Given the description of an element on the screen output the (x, y) to click on. 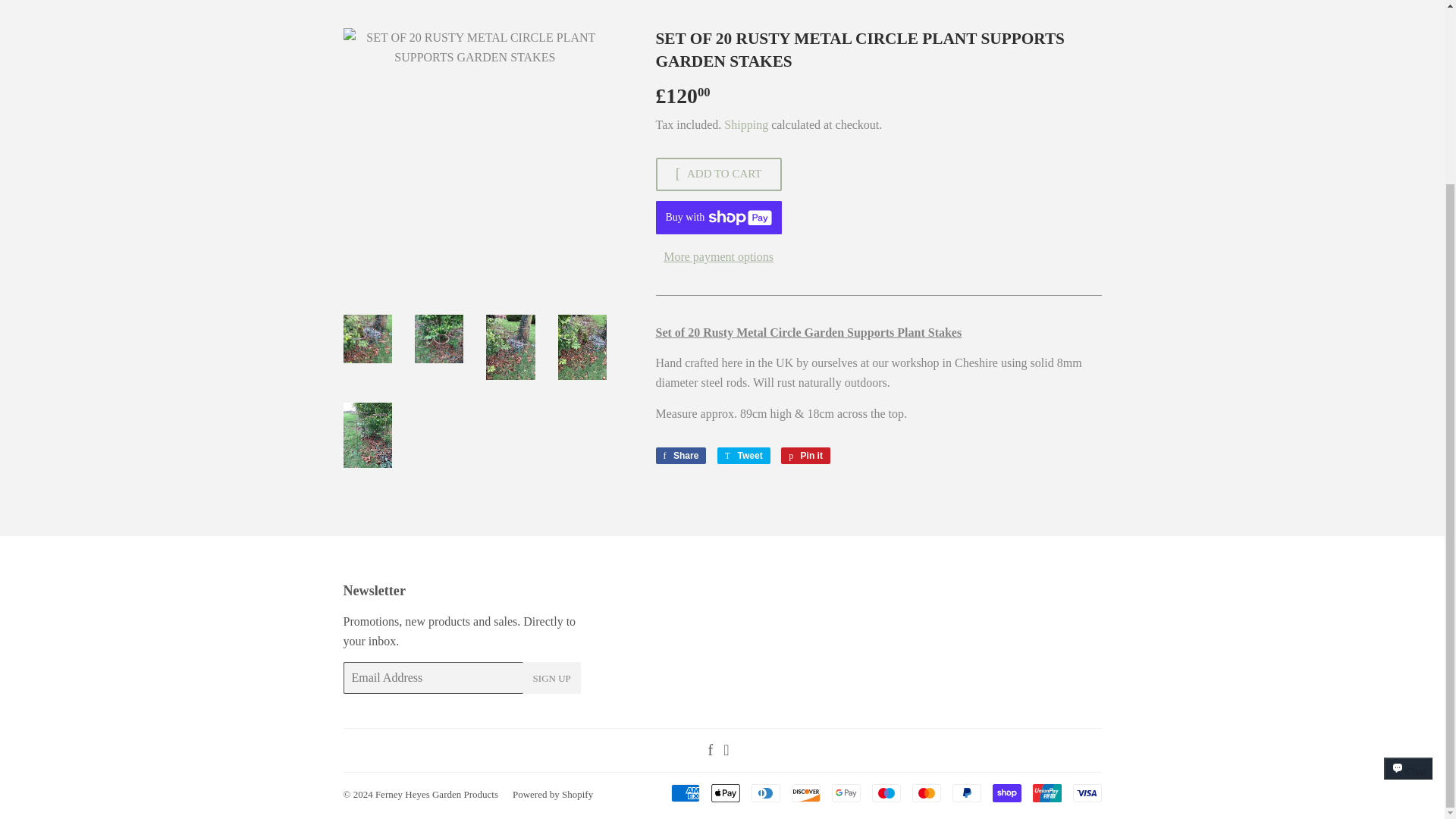
Ferney Heyes Garden Products (436, 794)
Visa (1085, 792)
Google Pay (845, 792)
Shopify online store chat (1408, 554)
More payment options (717, 256)
Apple Pay (725, 792)
Shop Pay (743, 455)
SIGN UP (1005, 792)
Pin on Pinterest (551, 677)
